Given the description of an element on the screen output the (x, y) to click on. 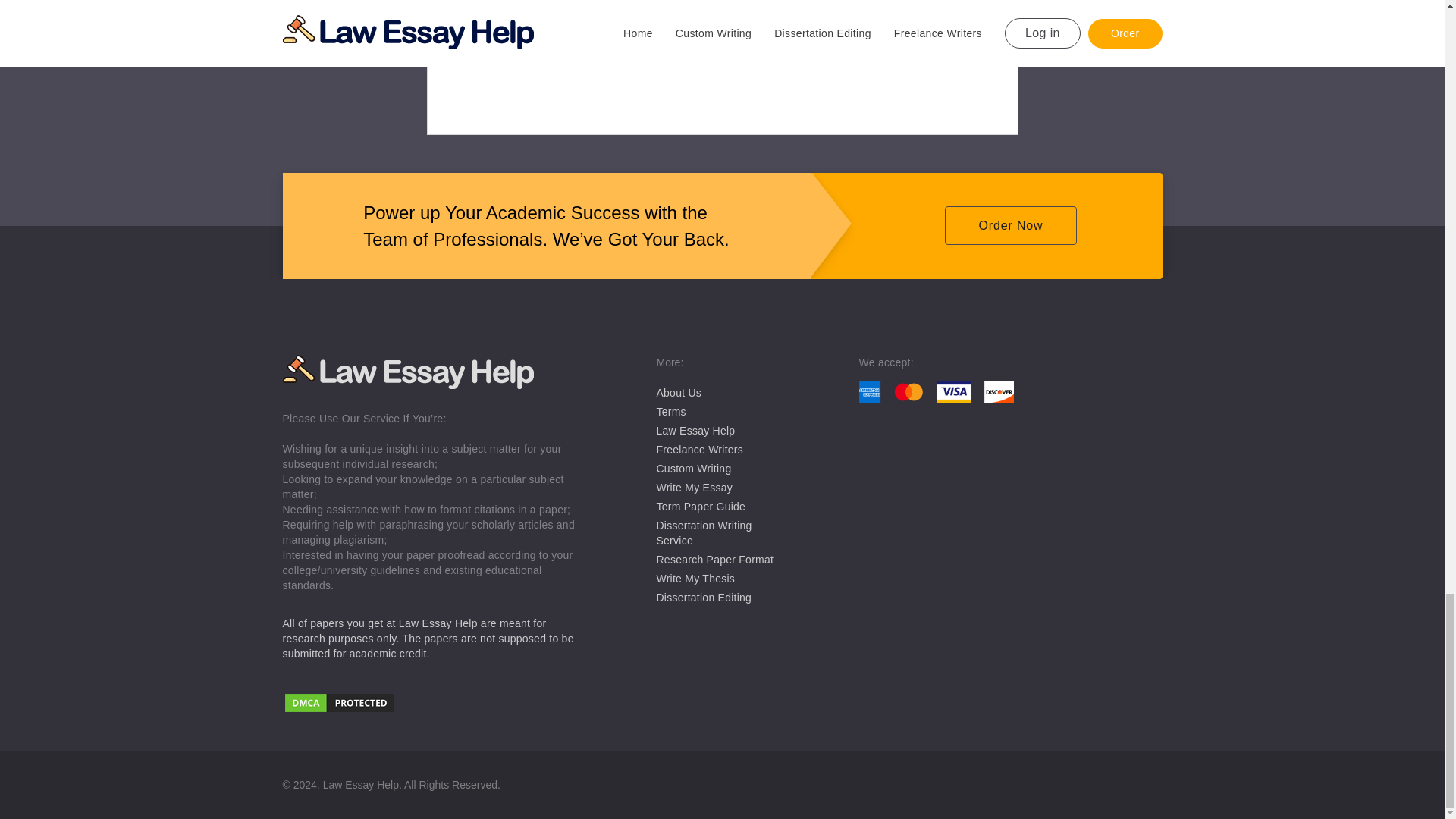
Dissertation Writing Service (704, 533)
Write My Thesis (695, 578)
Term Paper Guide (700, 506)
Research Paper Format (715, 559)
Freelance Writers (699, 449)
Terms (670, 411)
Law Essay Help (695, 430)
Order Now (1009, 225)
DMCA.com Protection Status (433, 703)
Custom Writing (694, 468)
